Given the description of an element on the screen output the (x, y) to click on. 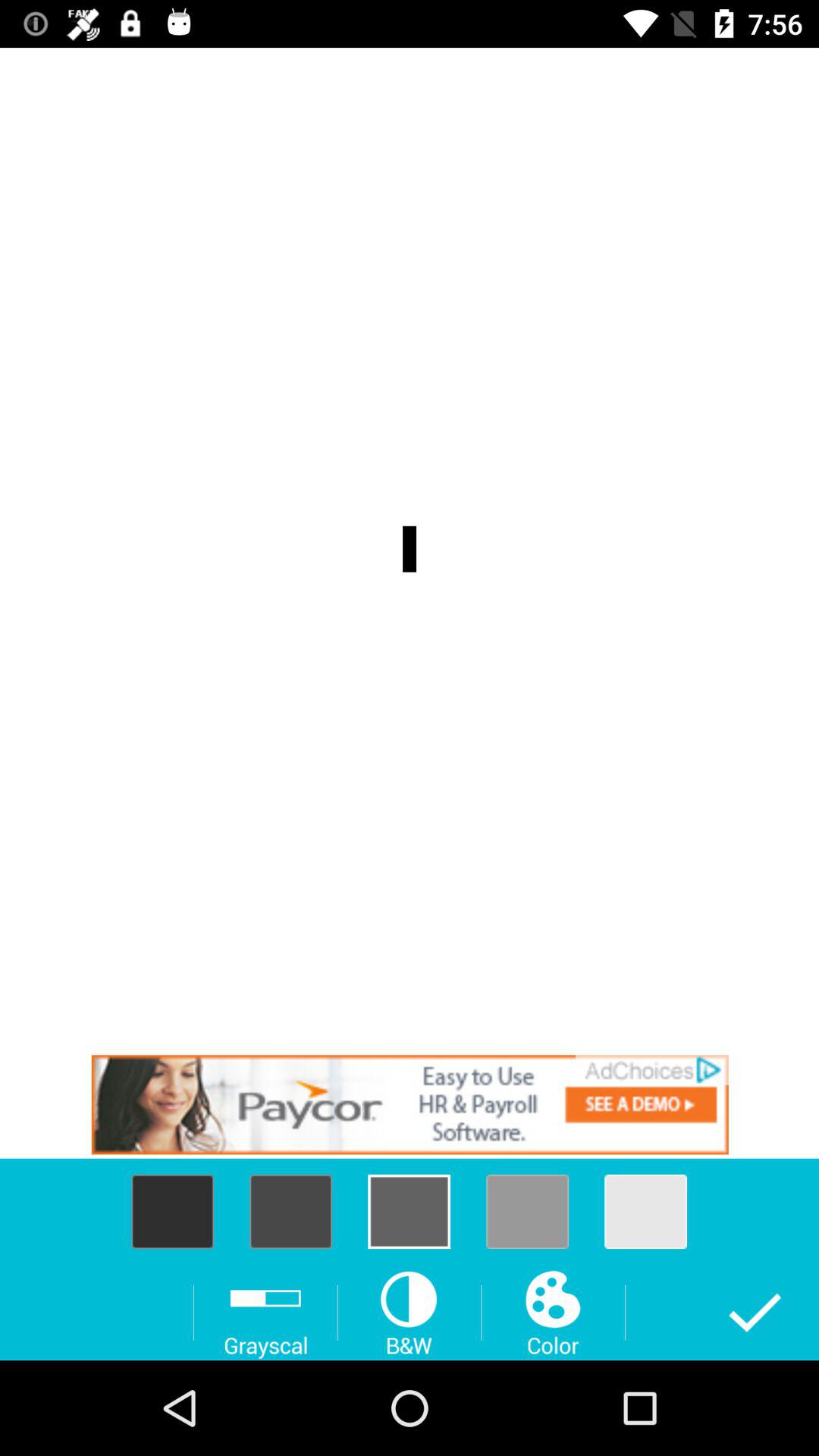
advertisement page (409, 1104)
